Given the description of an element on the screen output the (x, y) to click on. 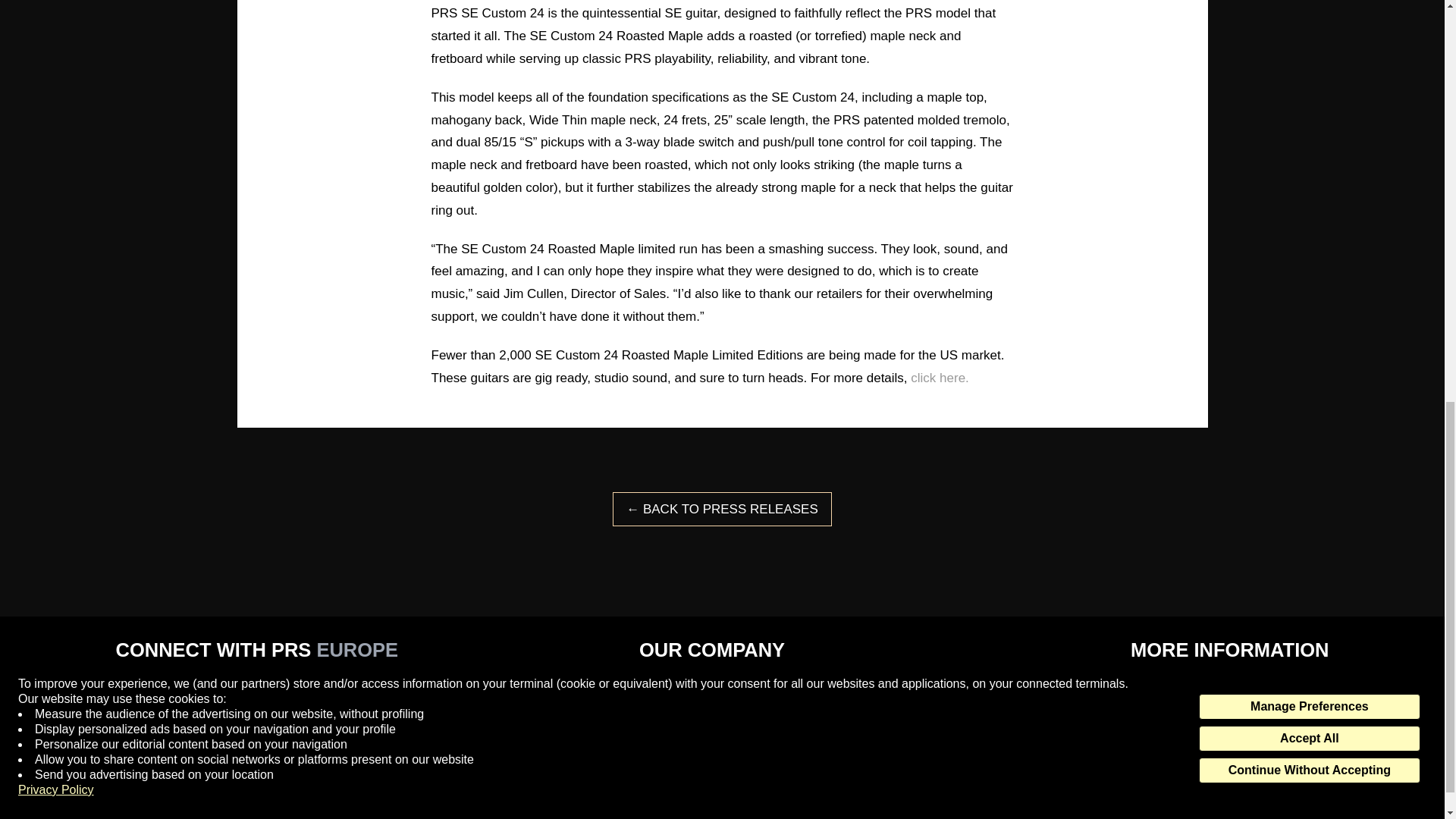
Instagram (224, 770)
TikTok (257, 770)
Facebook (159, 685)
YouTube (191, 685)
YouTube (191, 770)
Facebook (159, 770)
Instagram (224, 685)
X (126, 770)
X (126, 685)
